Given the description of an element on the screen output the (x, y) to click on. 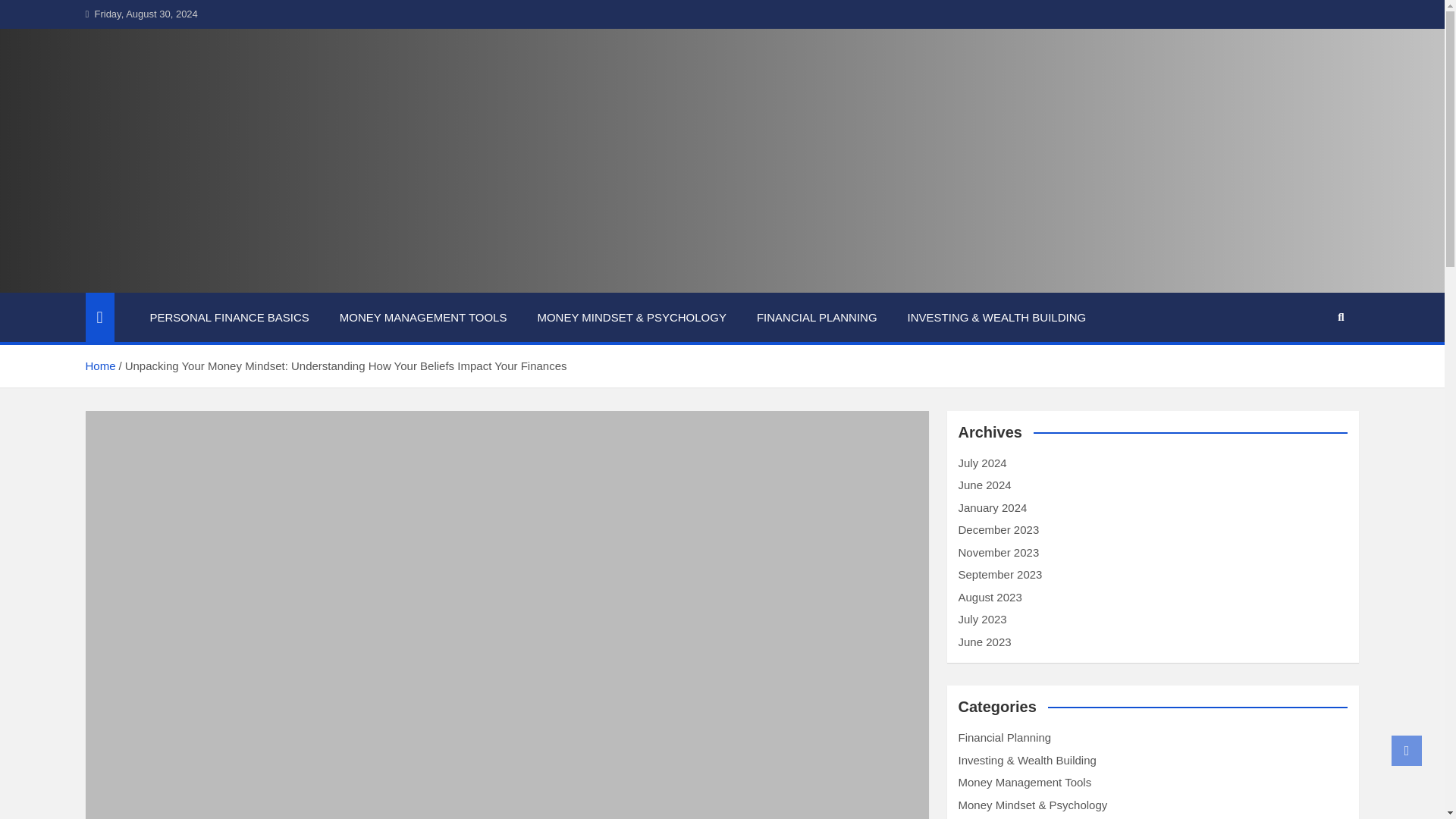
Home (99, 365)
Go to Top (1406, 750)
June 2023 (984, 641)
December 2023 (998, 529)
July 2024 (982, 462)
September 2023 (1000, 574)
July 2023 (982, 618)
PERSONAL FINANCE BASICS (229, 317)
Money Management Tools (1025, 781)
FINANCIAL PLANNING (816, 317)
